Given the description of an element on the screen output the (x, y) to click on. 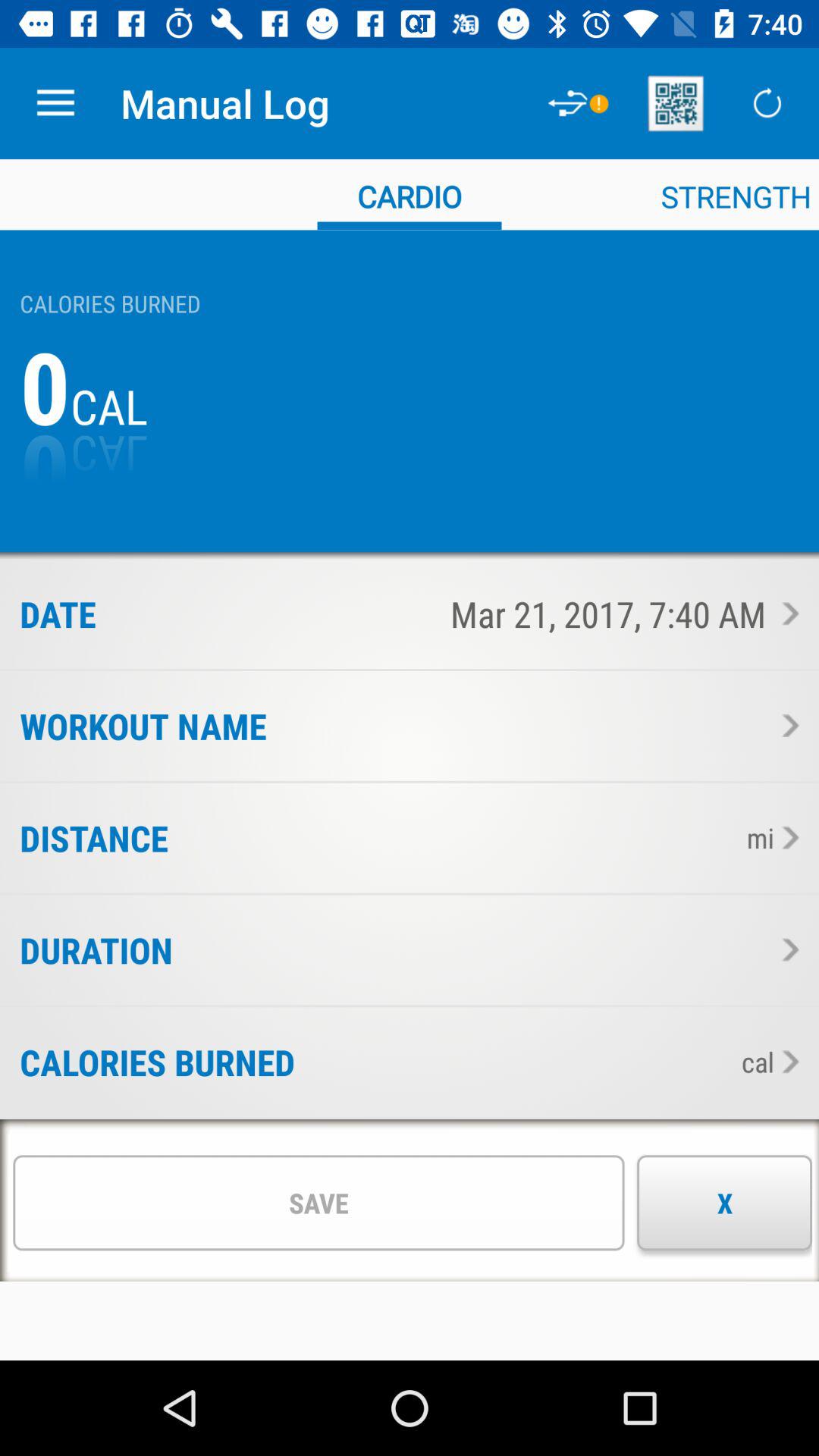
see the duration (786, 949)
